Given the description of an element on the screen output the (x, y) to click on. 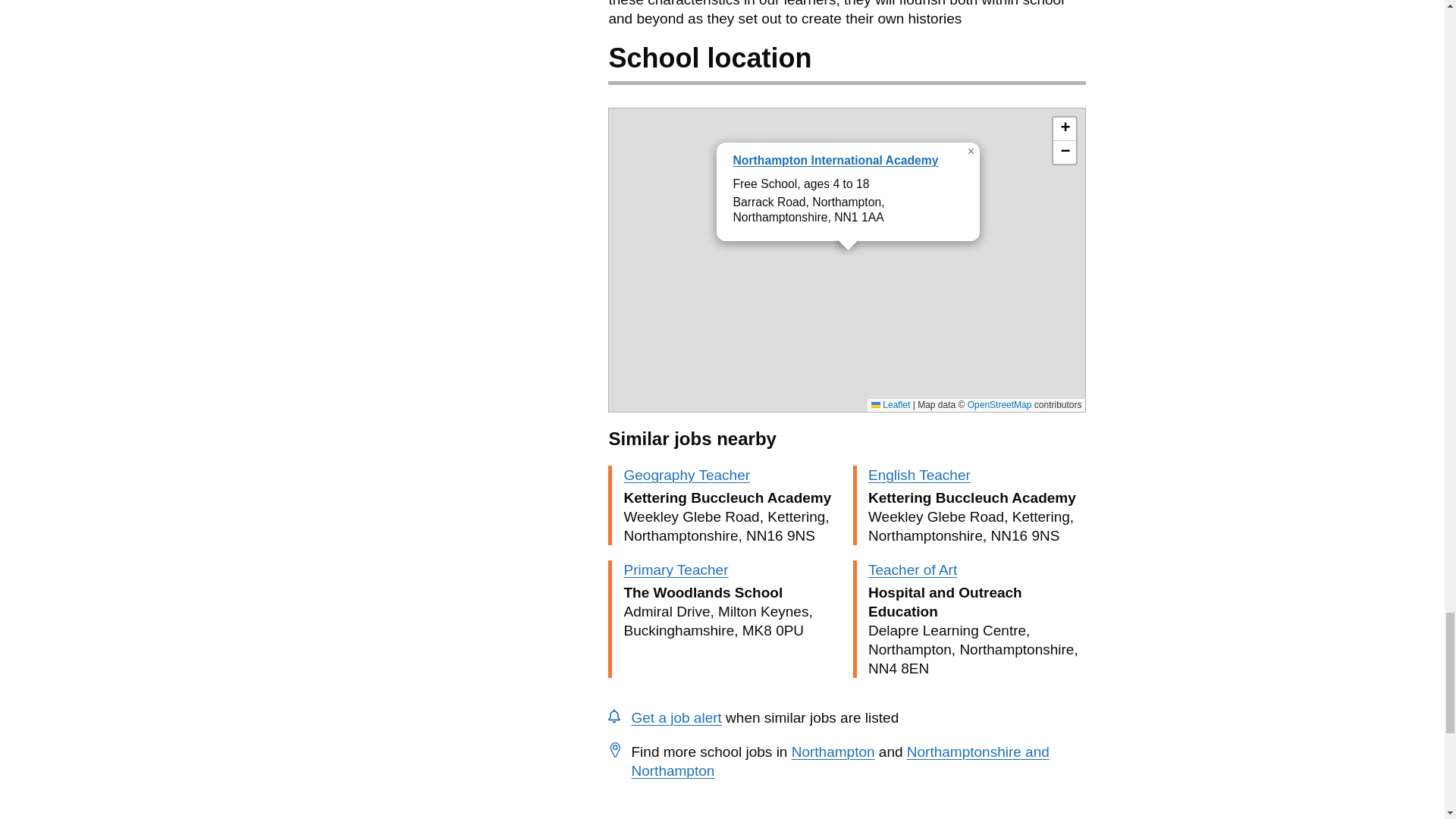
Northampton (833, 751)
Zoom in (1063, 128)
Northamptonshire and Northampton (839, 760)
Leaflet (890, 404)
Geography Teacher (686, 474)
English Teacher (919, 474)
Zoom out (1063, 151)
Teacher of Art (911, 569)
Northampton International Academy (834, 160)
Primary Teacher (675, 569)
